Given the description of an element on the screen output the (x, y) to click on. 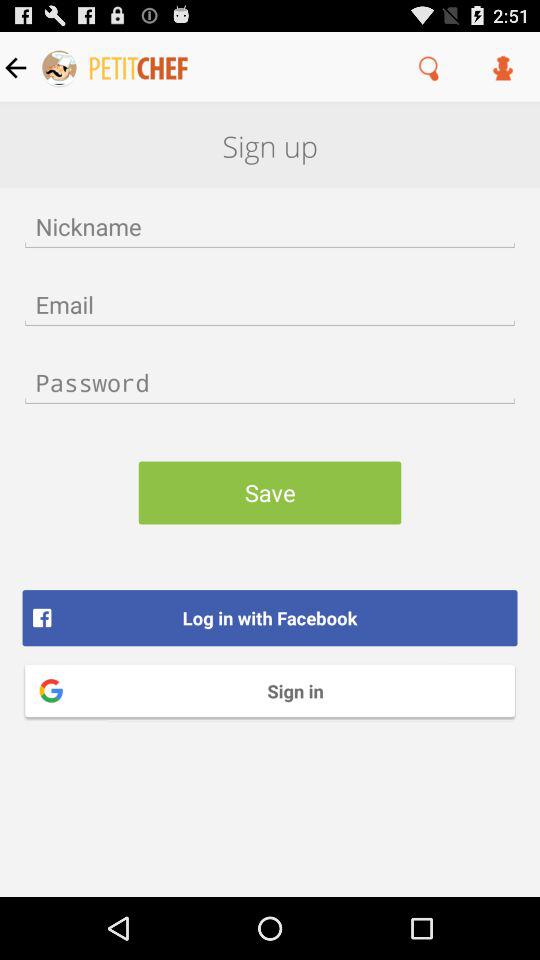
launch the sign in icon (269, 690)
